Given the description of an element on the screen output the (x, y) to click on. 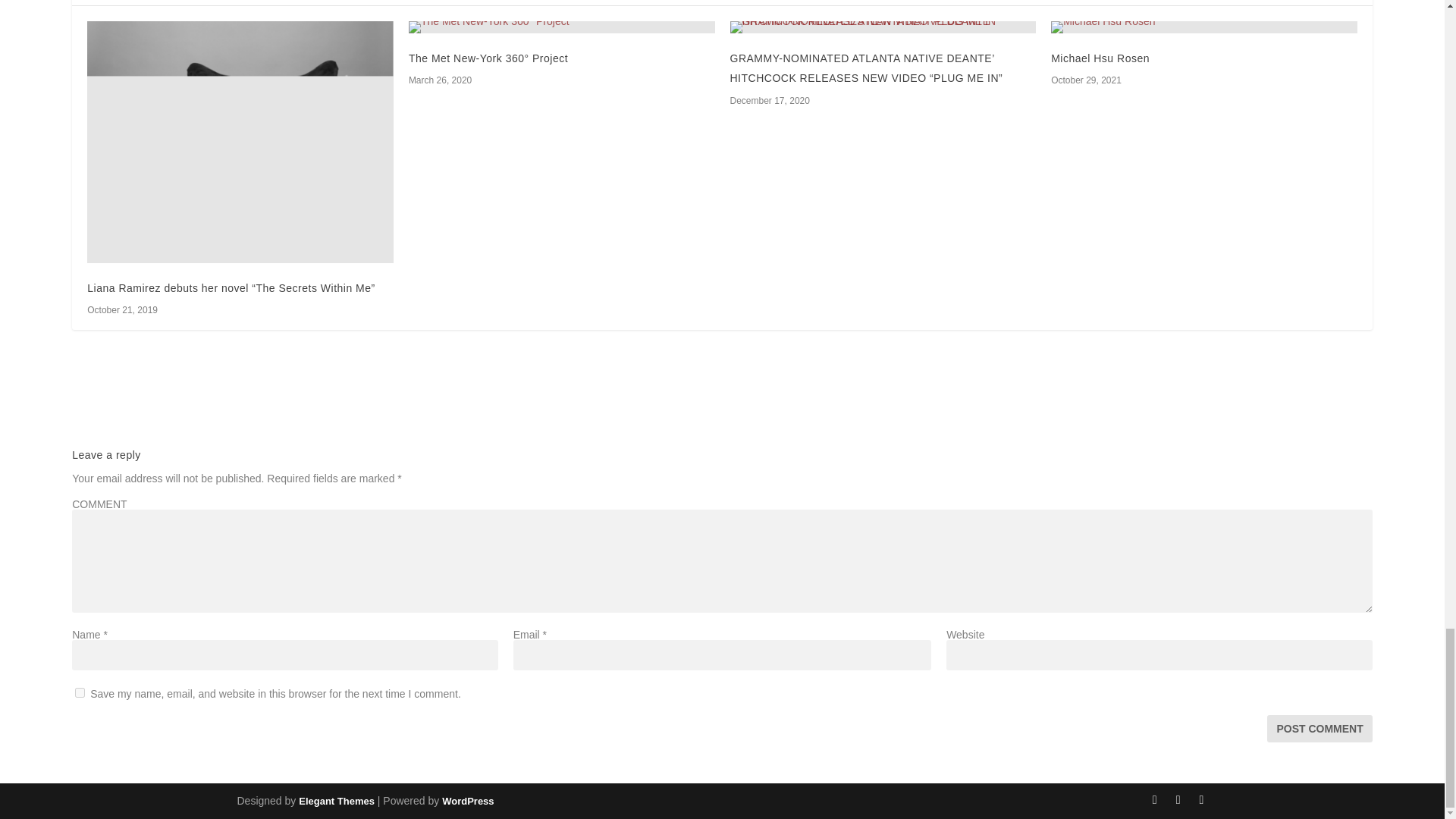
Michael Hsu Rosen (1100, 58)
WordPress (467, 800)
yes (79, 692)
Elegant Themes (336, 800)
Post Comment (1318, 728)
Post Comment (1318, 728)
